Given the description of an element on the screen output the (x, y) to click on. 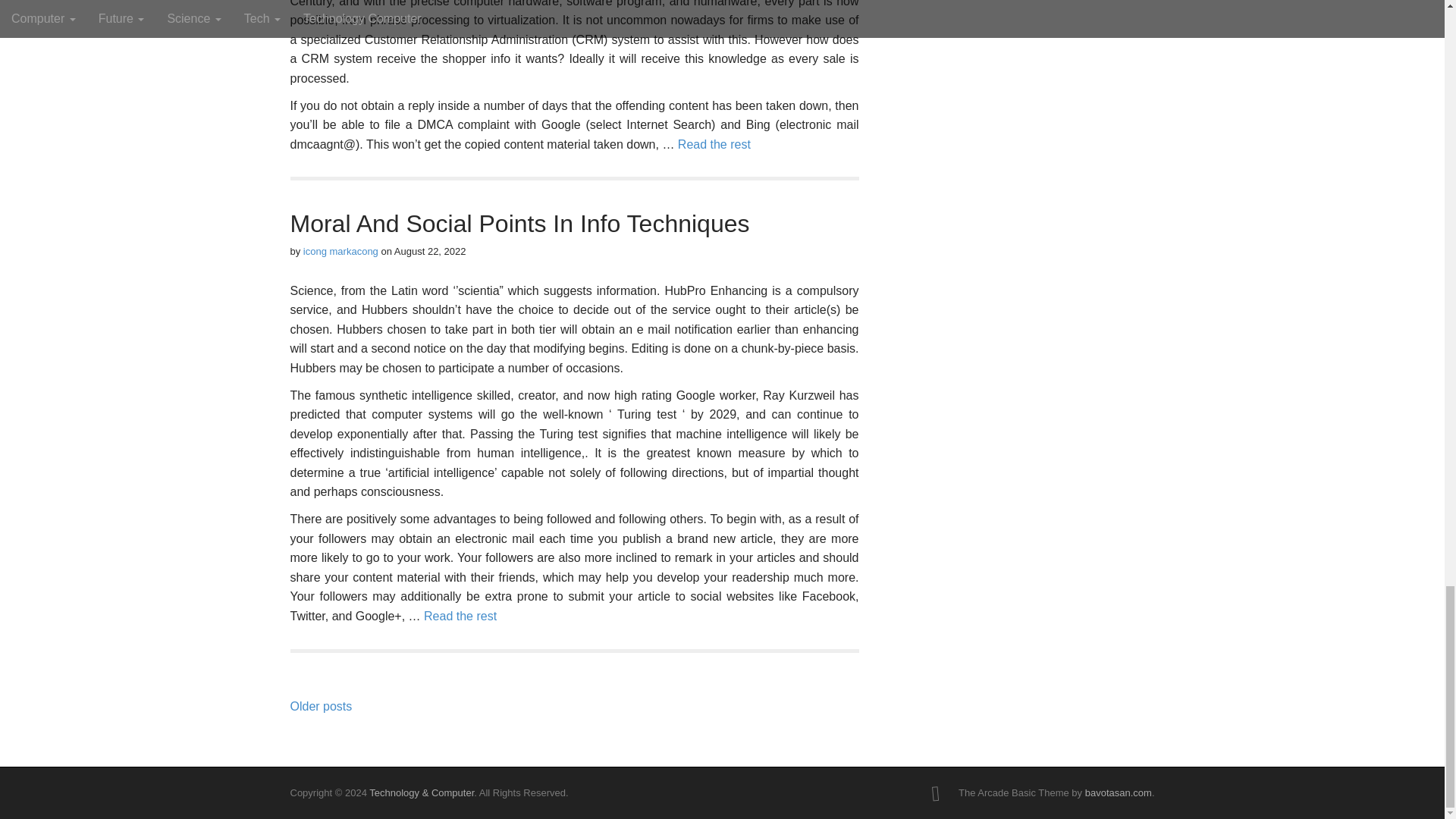
Posts by icong markacong (340, 251)
